Given the description of an element on the screen output the (x, y) to click on. 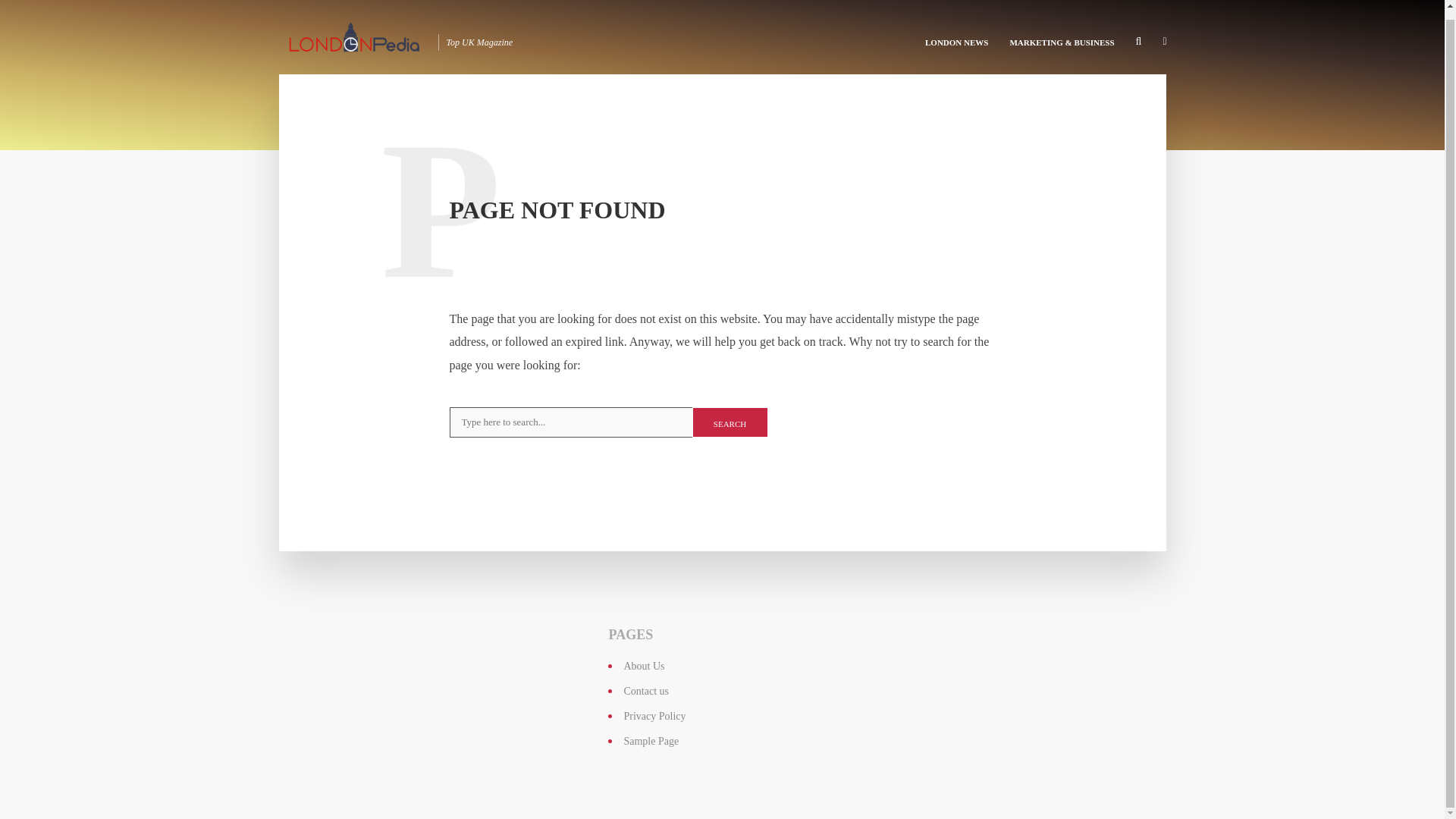
Sample Page (650, 740)
Contact us (645, 690)
Privacy Policy (654, 715)
About Us (643, 665)
SEARCH (729, 422)
LONDON NEWS (956, 33)
